Given the description of an element on the screen output the (x, y) to click on. 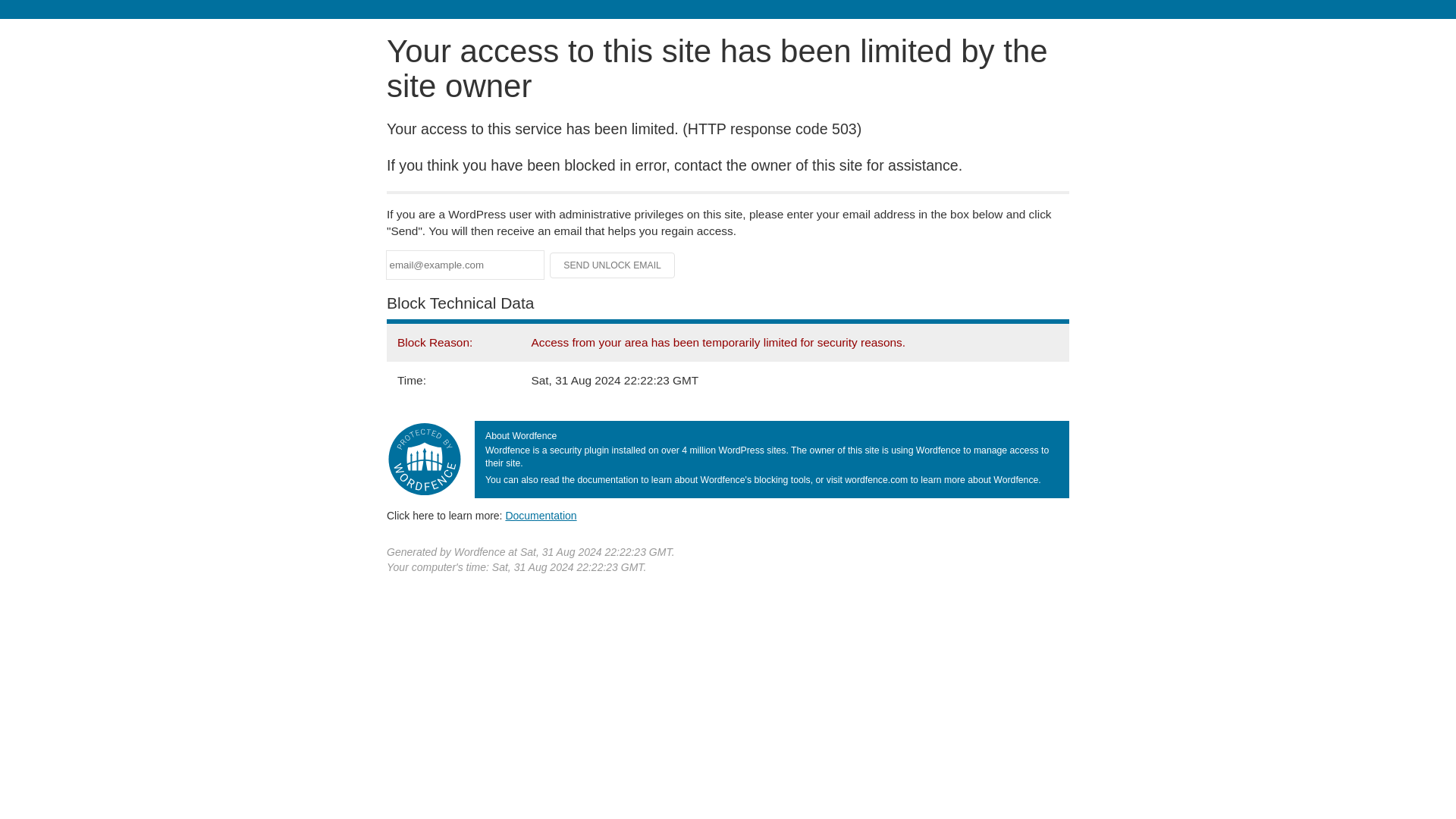
Send Unlock Email (612, 265)
Documentation (540, 515)
Send Unlock Email (612, 265)
